Given the description of an element on the screen output the (x, y) to click on. 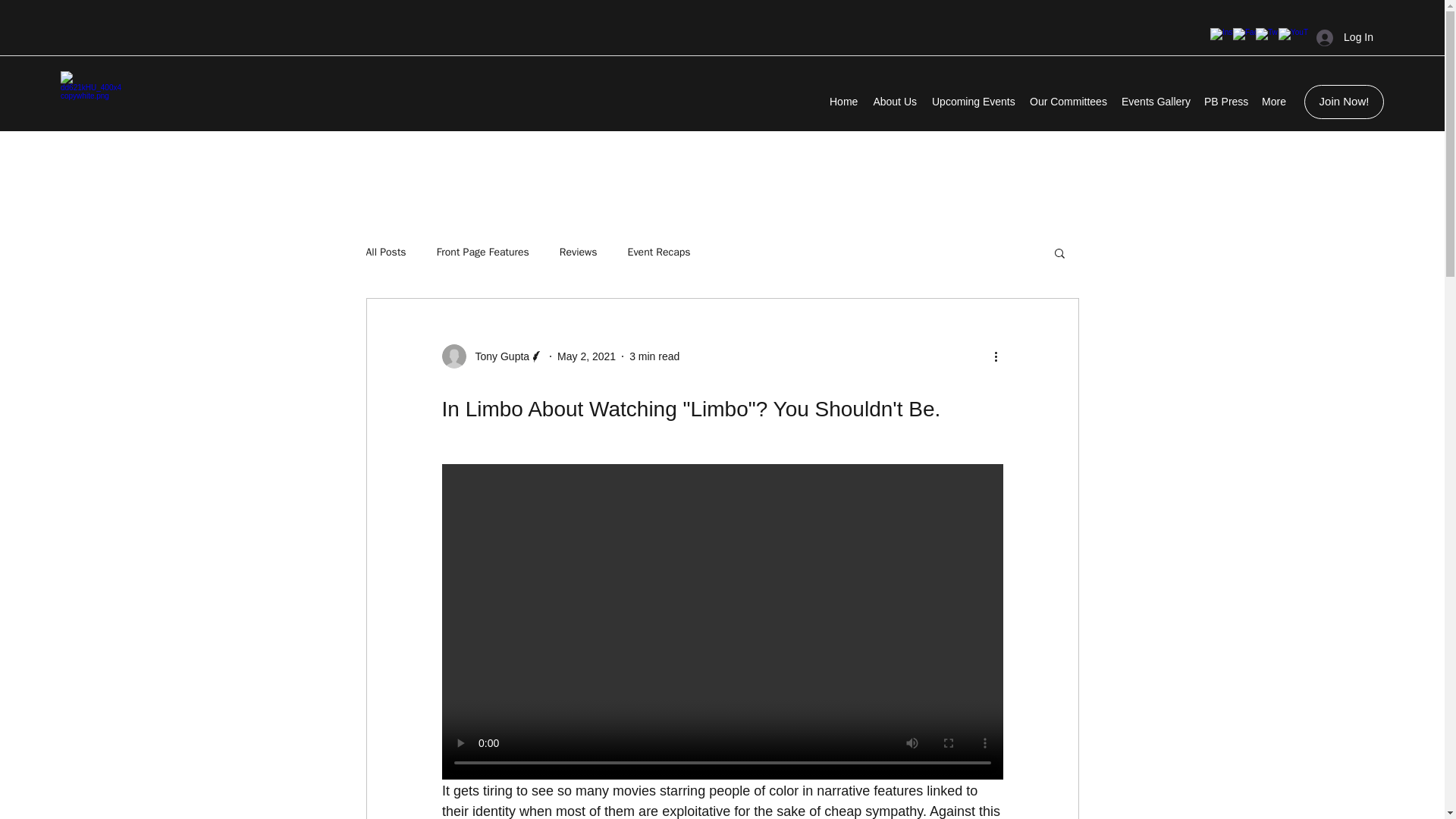
Upcoming Events (973, 101)
Event Recaps (658, 252)
Reviews (577, 252)
Events Gallery (1154, 101)
Log In (1345, 37)
Front Page Features (482, 252)
About Us (894, 101)
All Posts (385, 252)
3 min read (653, 356)
Join Now! (1344, 101)
Home (843, 101)
Tony Gupta (497, 356)
PB Press (1224, 101)
Our Committees (1067, 101)
May 2, 2021 (586, 356)
